Given the description of an element on the screen output the (x, y) to click on. 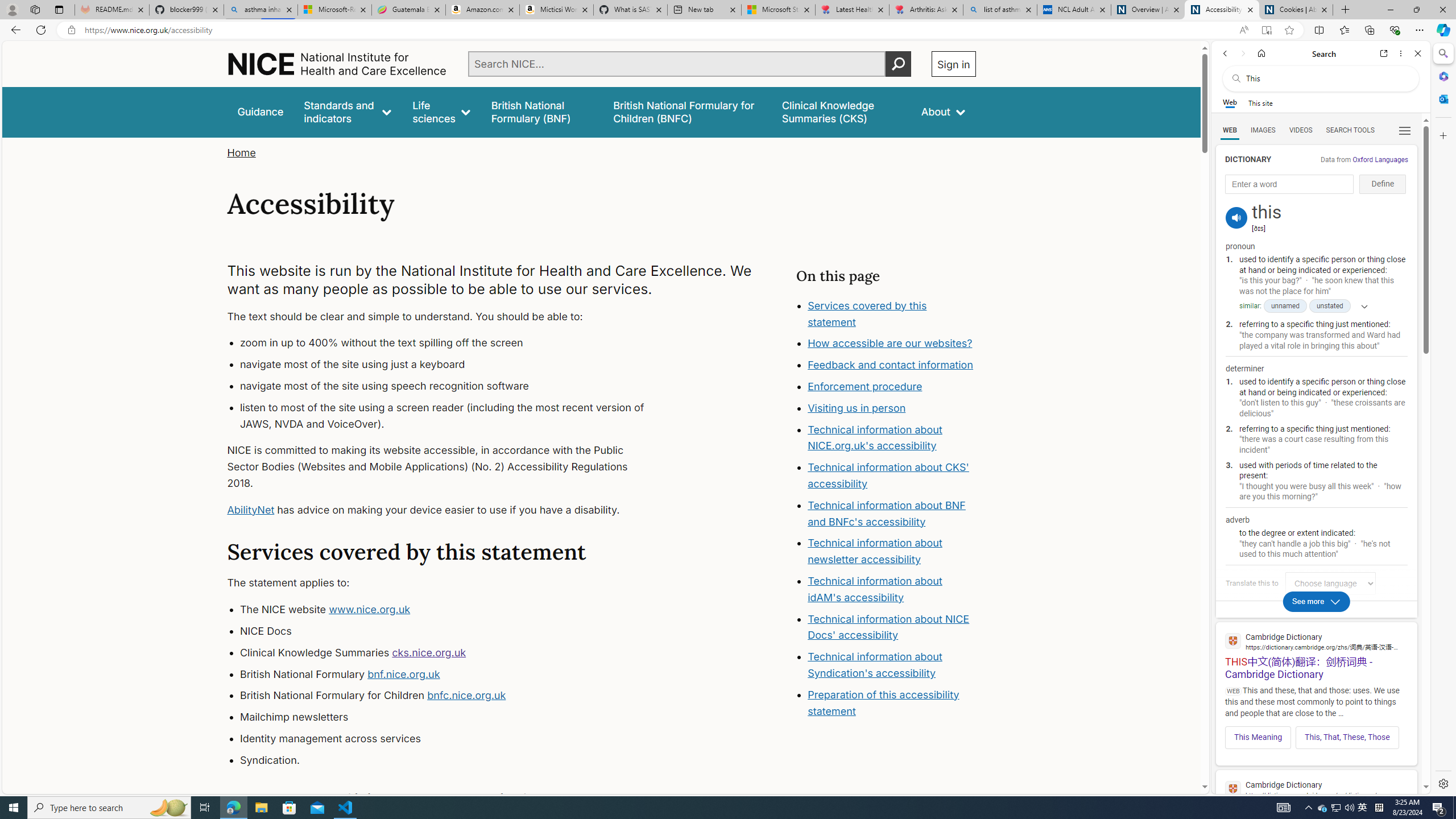
false (841, 111)
Perform search (898, 63)
Link for logging (1333, 582)
